Given the description of an element on the screen output the (x, y) to click on. 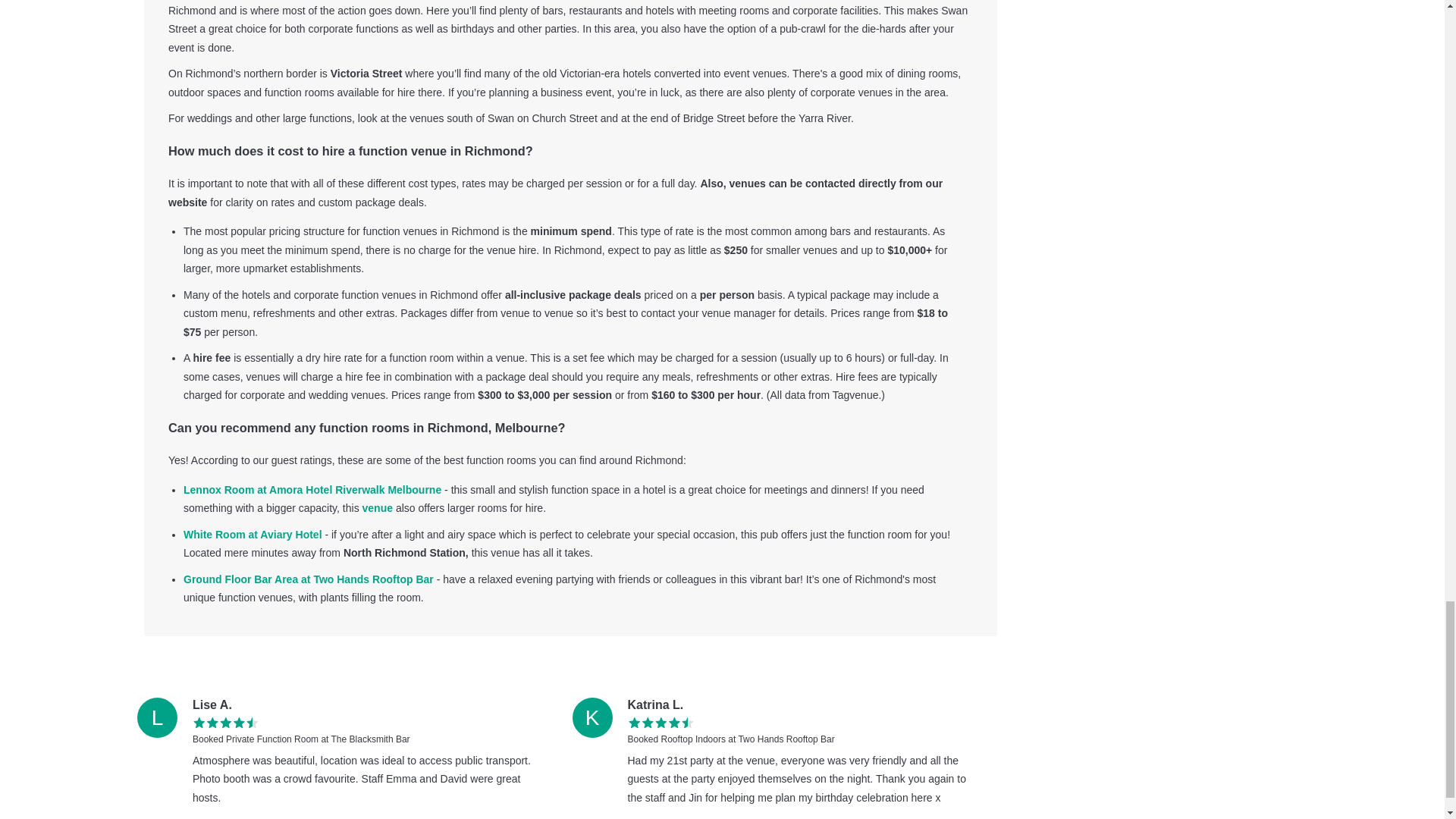
Lennox Room at Amora Hotel Riverwalk Melbourne (312, 490)
White Room at Aviary Hotel (252, 534)
venue (377, 508)
Ground Floor Bar Area at Two Hands Rooftop Bar (308, 579)
